Given the description of an element on the screen output the (x, y) to click on. 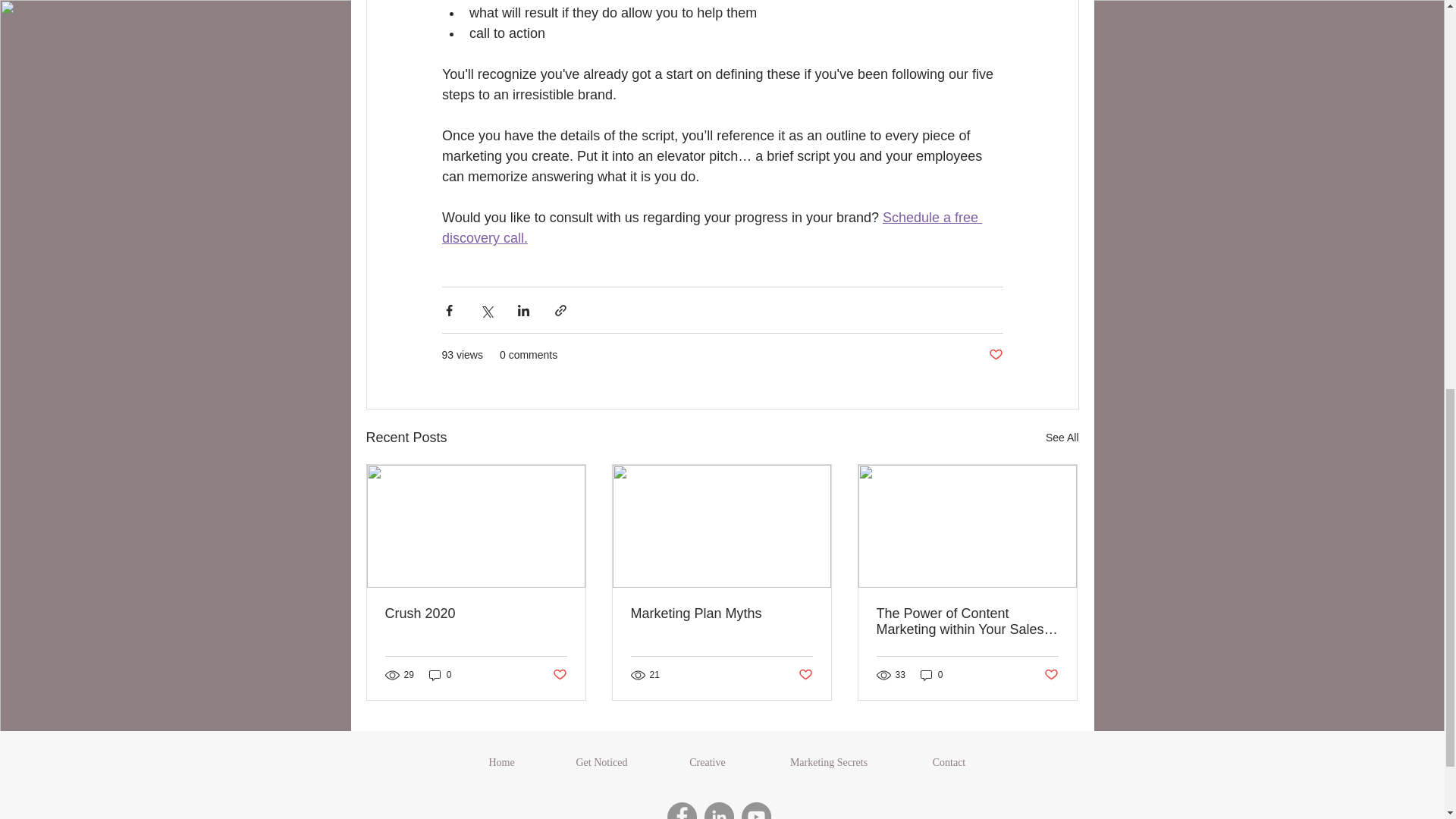
Post not marked as liked (995, 355)
0 (440, 675)
Crush 2020 (476, 613)
Creative (707, 762)
Post not marked as liked (558, 675)
Get Noticed (601, 762)
Post not marked as liked (1050, 675)
Home (502, 762)
0 (931, 675)
Post not marked as liked (804, 675)
Schedule a free discovery call. (711, 227)
Marketing Plan Myths (721, 613)
Contact (948, 762)
The Power of Content Marketing within Your Sales Funnel (967, 622)
Marketing Secrets (828, 762)
